Given the description of an element on the screen output the (x, y) to click on. 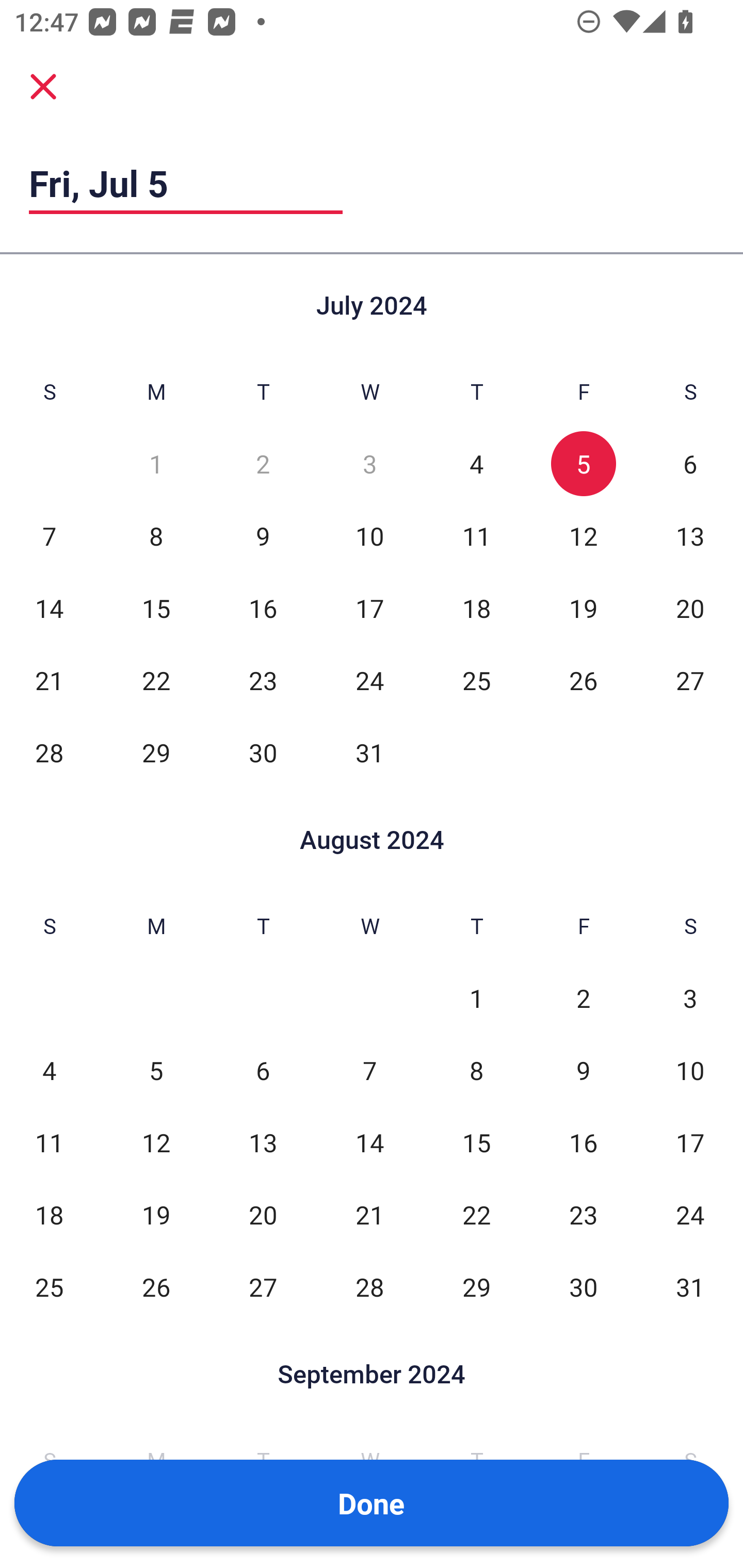
Cancel (43, 86)
Fri, Jul 5 (185, 182)
1 Mon, Jul 1, Not Selected (156, 464)
2 Tue, Jul 2, Not Selected (263, 464)
3 Wed, Jul 3, Not Selected (369, 464)
4 Thu, Jul 4, Not Selected (476, 464)
5 Fri, Jul 5, Selected (583, 464)
6 Sat, Jul 6, Not Selected (690, 464)
7 Sun, Jul 7, Not Selected (49, 536)
8 Mon, Jul 8, Not Selected (156, 536)
9 Tue, Jul 9, Not Selected (263, 536)
10 Wed, Jul 10, Not Selected (369, 536)
11 Thu, Jul 11, Not Selected (476, 536)
12 Fri, Jul 12, Not Selected (583, 536)
13 Sat, Jul 13, Not Selected (690, 536)
14 Sun, Jul 14, Not Selected (49, 608)
15 Mon, Jul 15, Not Selected (156, 608)
16 Tue, Jul 16, Not Selected (263, 608)
17 Wed, Jul 17, Not Selected (369, 608)
18 Thu, Jul 18, Not Selected (476, 608)
19 Fri, Jul 19, Not Selected (583, 608)
20 Sat, Jul 20, Not Selected (690, 608)
21 Sun, Jul 21, Not Selected (49, 680)
22 Mon, Jul 22, Not Selected (156, 680)
23 Tue, Jul 23, Not Selected (263, 680)
24 Wed, Jul 24, Not Selected (369, 680)
25 Thu, Jul 25, Not Selected (476, 680)
26 Fri, Jul 26, Not Selected (583, 680)
27 Sat, Jul 27, Not Selected (690, 680)
28 Sun, Jul 28, Not Selected (49, 752)
29 Mon, Jul 29, Not Selected (156, 752)
30 Tue, Jul 30, Not Selected (263, 752)
31 Wed, Jul 31, Not Selected (369, 752)
1 Thu, Aug 1, Not Selected (476, 997)
2 Fri, Aug 2, Not Selected (583, 997)
3 Sat, Aug 3, Not Selected (690, 997)
4 Sun, Aug 4, Not Selected (49, 1070)
5 Mon, Aug 5, Not Selected (156, 1070)
6 Tue, Aug 6, Not Selected (263, 1070)
7 Wed, Aug 7, Not Selected (369, 1070)
8 Thu, Aug 8, Not Selected (476, 1070)
9 Fri, Aug 9, Not Selected (583, 1070)
10 Sat, Aug 10, Not Selected (690, 1070)
11 Sun, Aug 11, Not Selected (49, 1143)
12 Mon, Aug 12, Not Selected (156, 1143)
13 Tue, Aug 13, Not Selected (263, 1143)
14 Wed, Aug 14, Not Selected (369, 1143)
15 Thu, Aug 15, Not Selected (476, 1143)
16 Fri, Aug 16, Not Selected (583, 1143)
17 Sat, Aug 17, Not Selected (690, 1143)
